Given the description of an element on the screen output the (x, y) to click on. 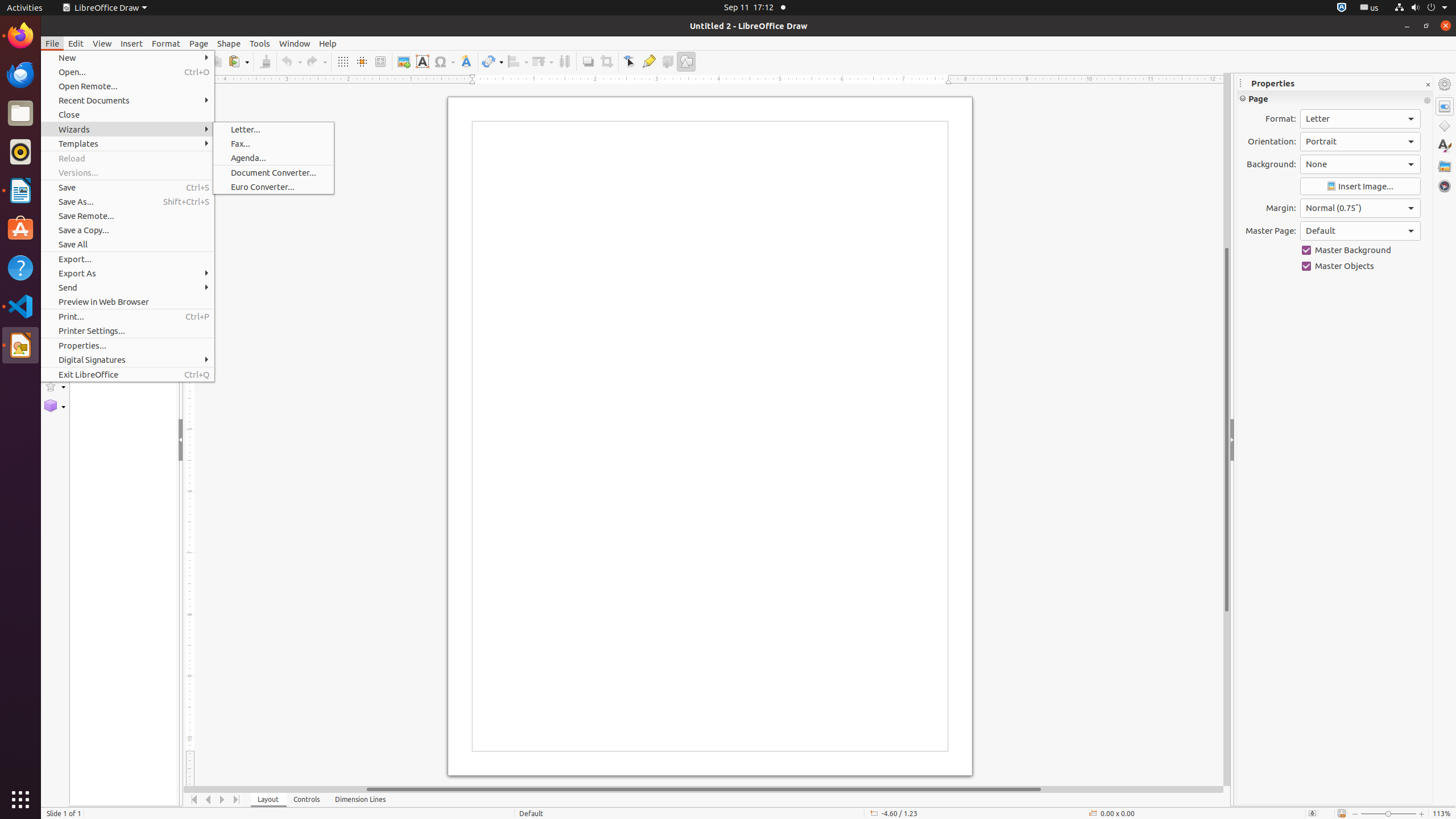
Crop Element type: push-button (606, 61)
Agenda... Element type: menu-item (273, 157)
Document Converter... Element type: menu-item (273, 172)
Exit LibreOffice Element type: menu-item (127, 374)
Export As Element type: menu (127, 273)
